Given the description of an element on the screen output the (x, y) to click on. 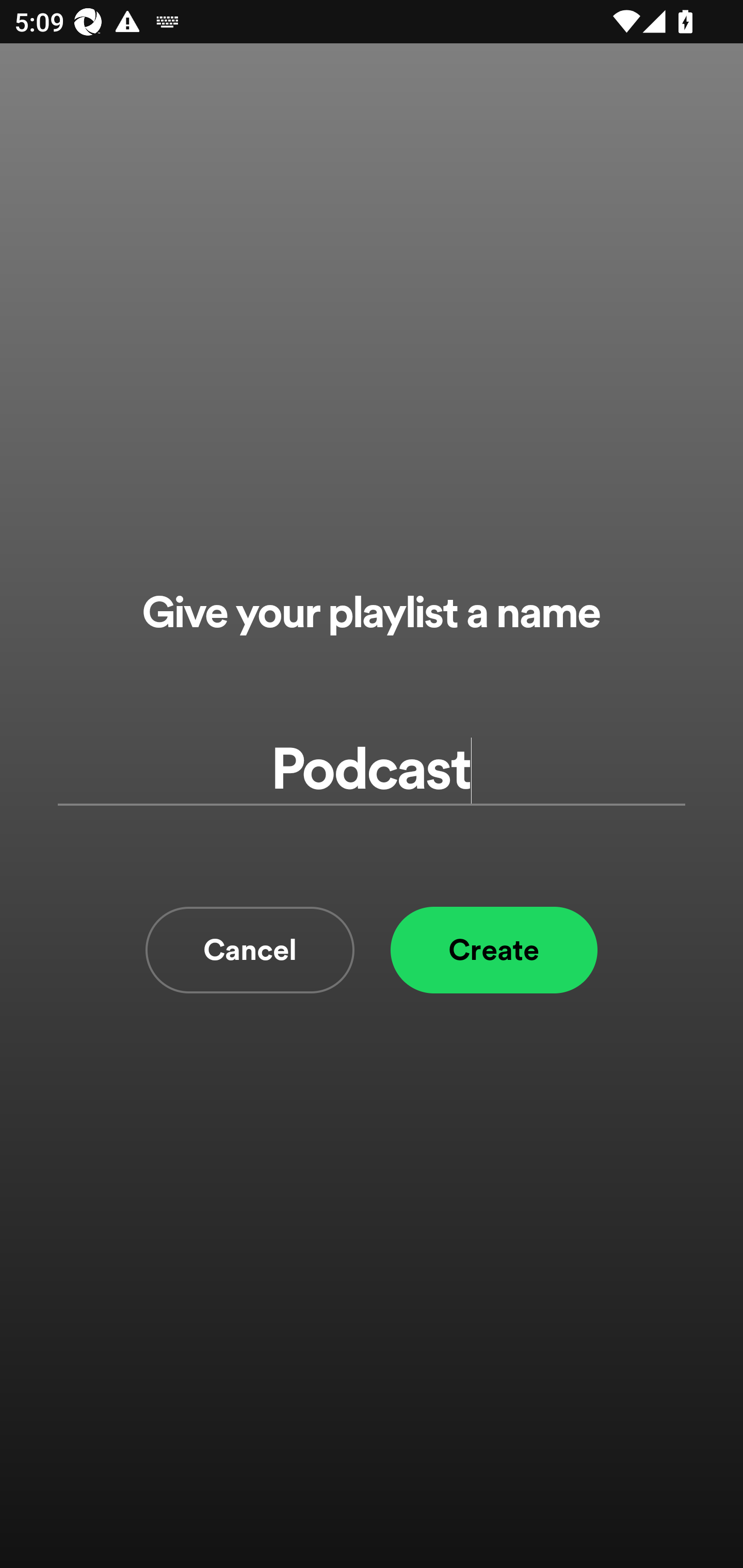
Podcast Add a playlist name (371, 769)
Cancel (249, 950)
Create (493, 950)
